Given the description of an element on the screen output the (x, y) to click on. 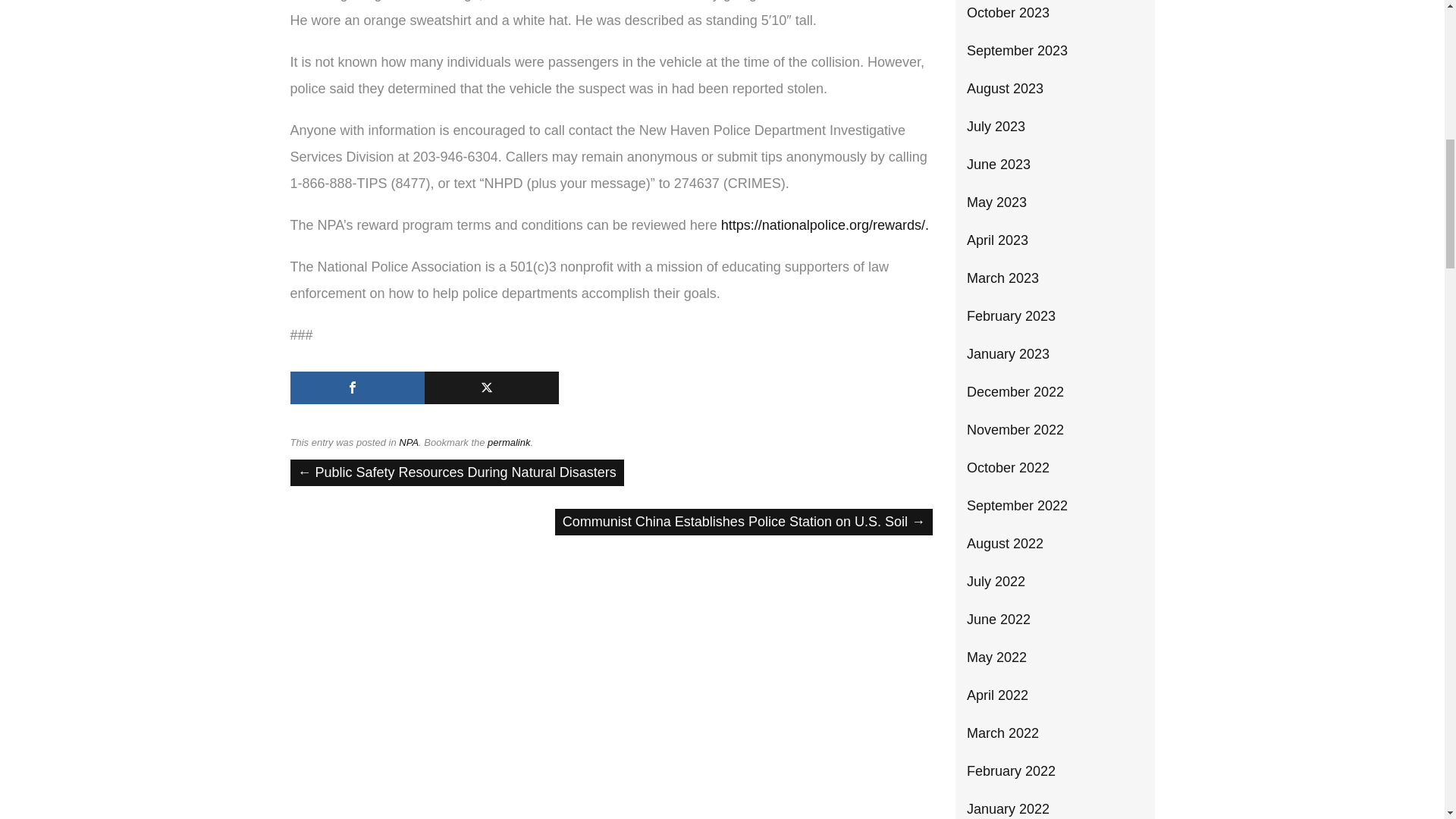
May 2023 (996, 201)
July 2023 (995, 126)
August 2023 (1004, 88)
NPA (408, 441)
Share (356, 387)
January 2023 (1007, 353)
September 2023 (1016, 50)
March 2023 (1002, 278)
permalink (508, 441)
Tweet (492, 387)
